Given the description of an element on the screen output the (x, y) to click on. 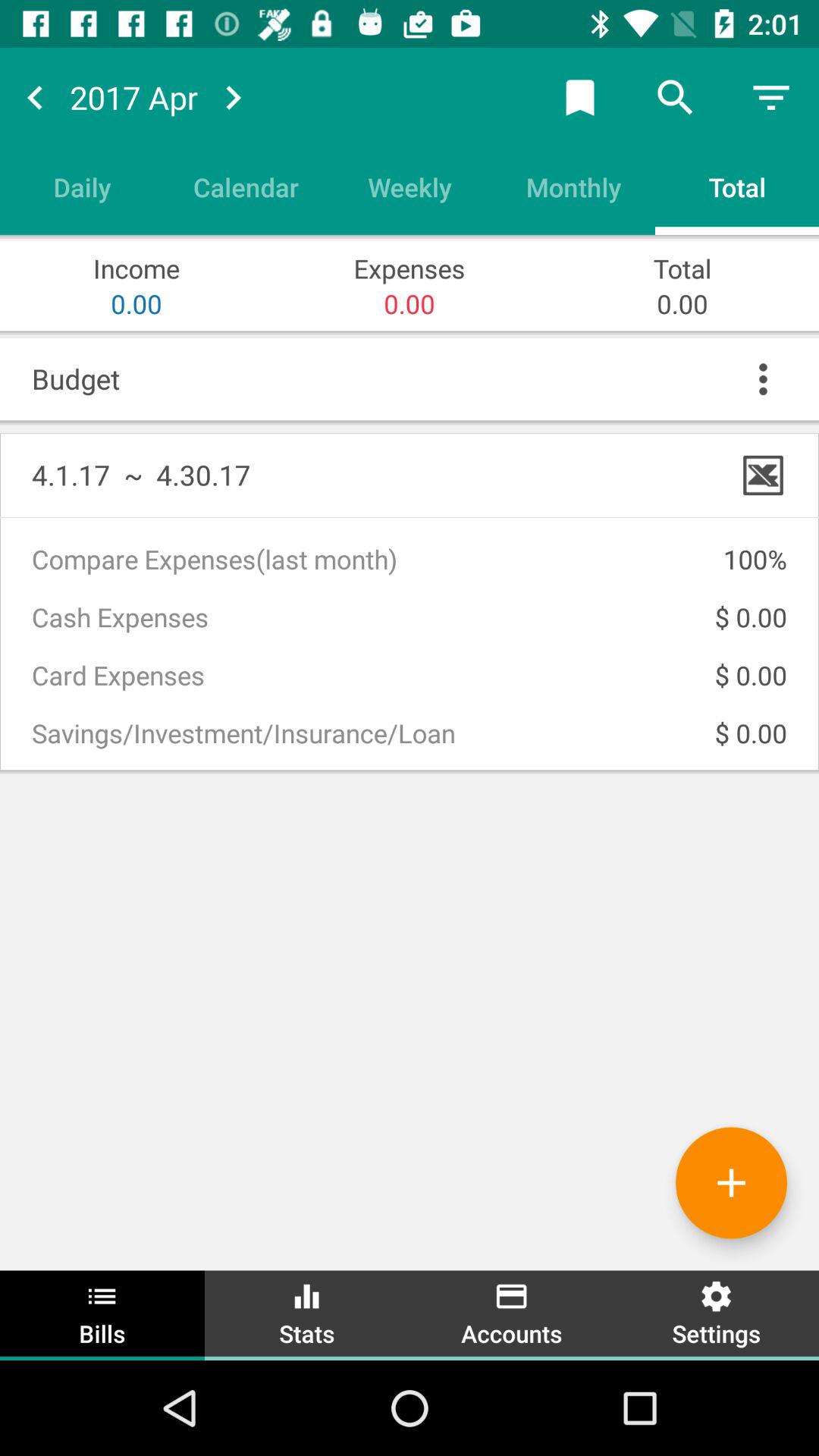
launch the icon to the right of daily icon (245, 186)
